Given the description of an element on the screen output the (x, y) to click on. 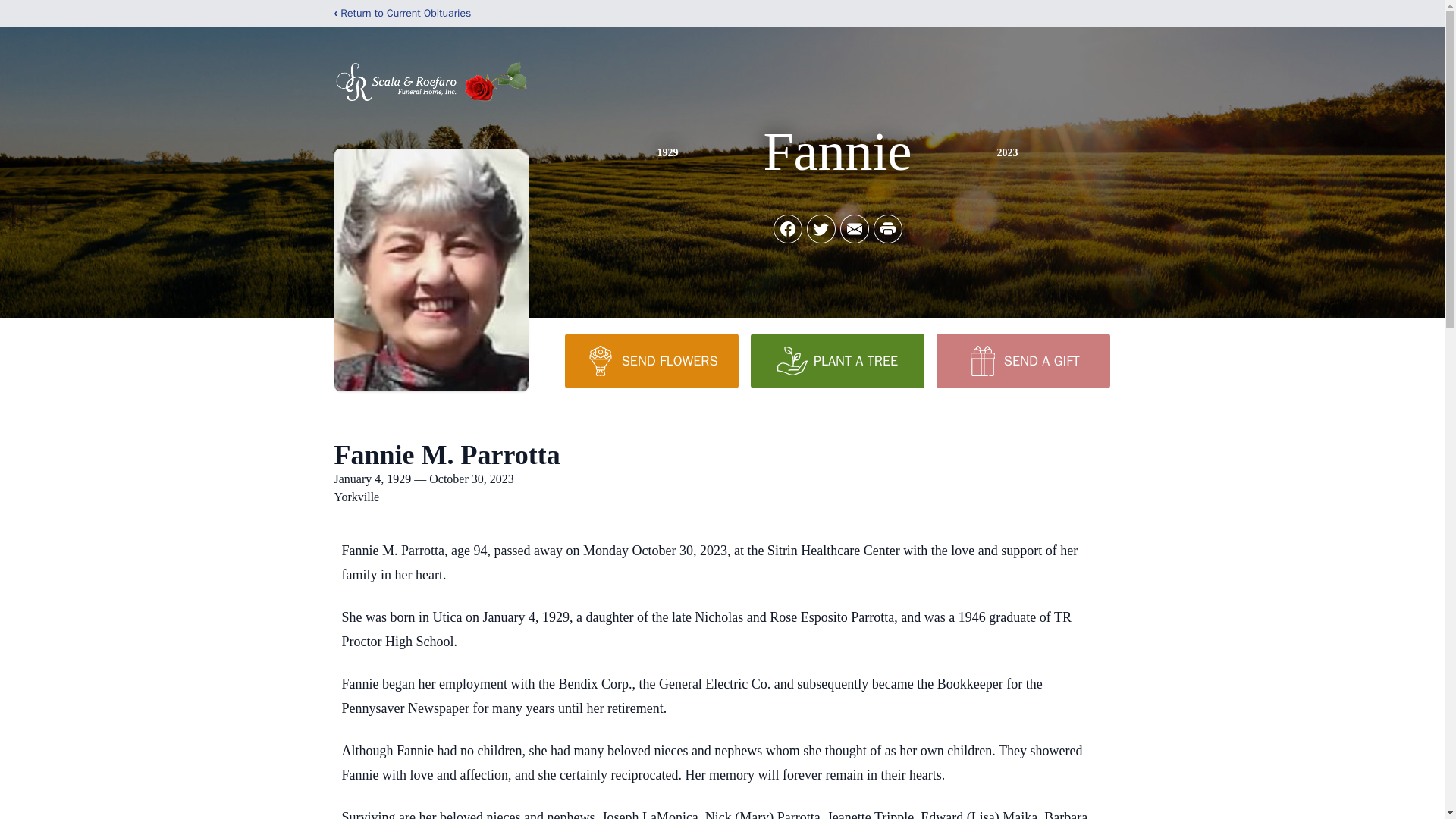
PLANT A TREE (837, 360)
SEND FLOWERS (651, 360)
SEND A GIFT (1022, 360)
